Given the description of an element on the screen output the (x, y) to click on. 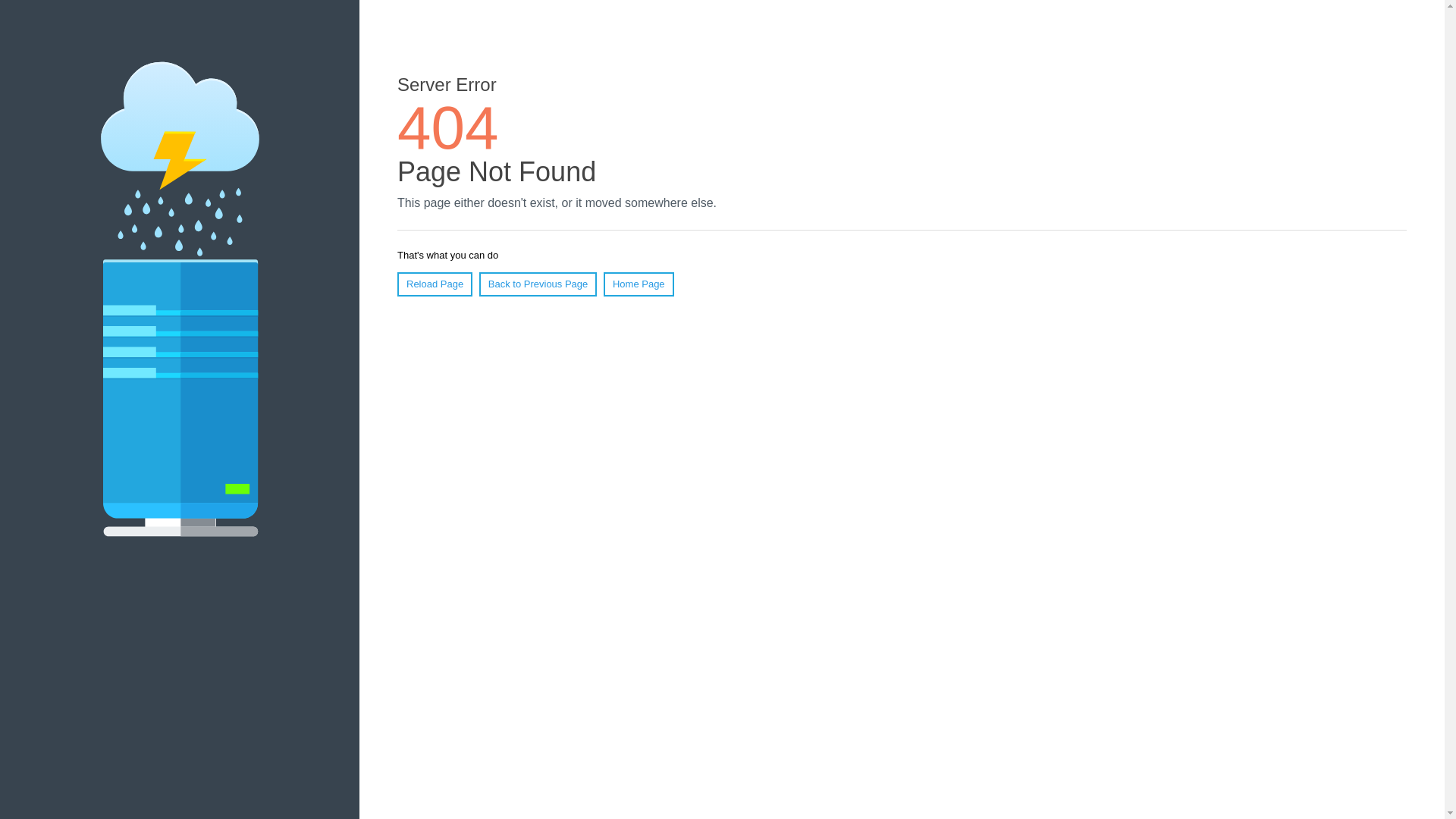
Reload Page Element type: text (434, 284)
Home Page Element type: text (638, 284)
Back to Previous Page Element type: text (538, 284)
